Given the description of an element on the screen output the (x, y) to click on. 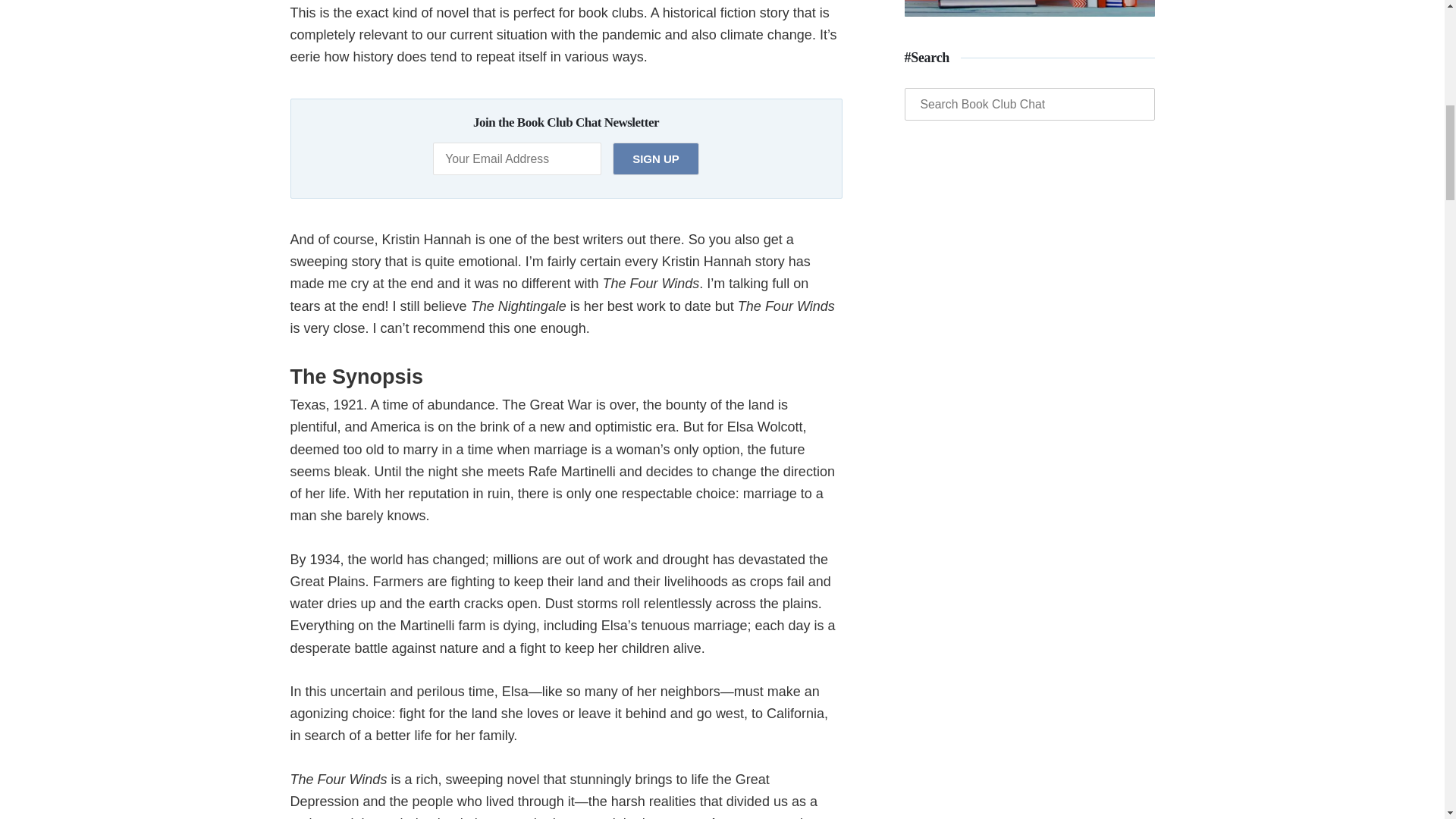
Search for: (1029, 103)
Sign Up (655, 158)
Sign Up (655, 158)
